Given the description of an element on the screen output the (x, y) to click on. 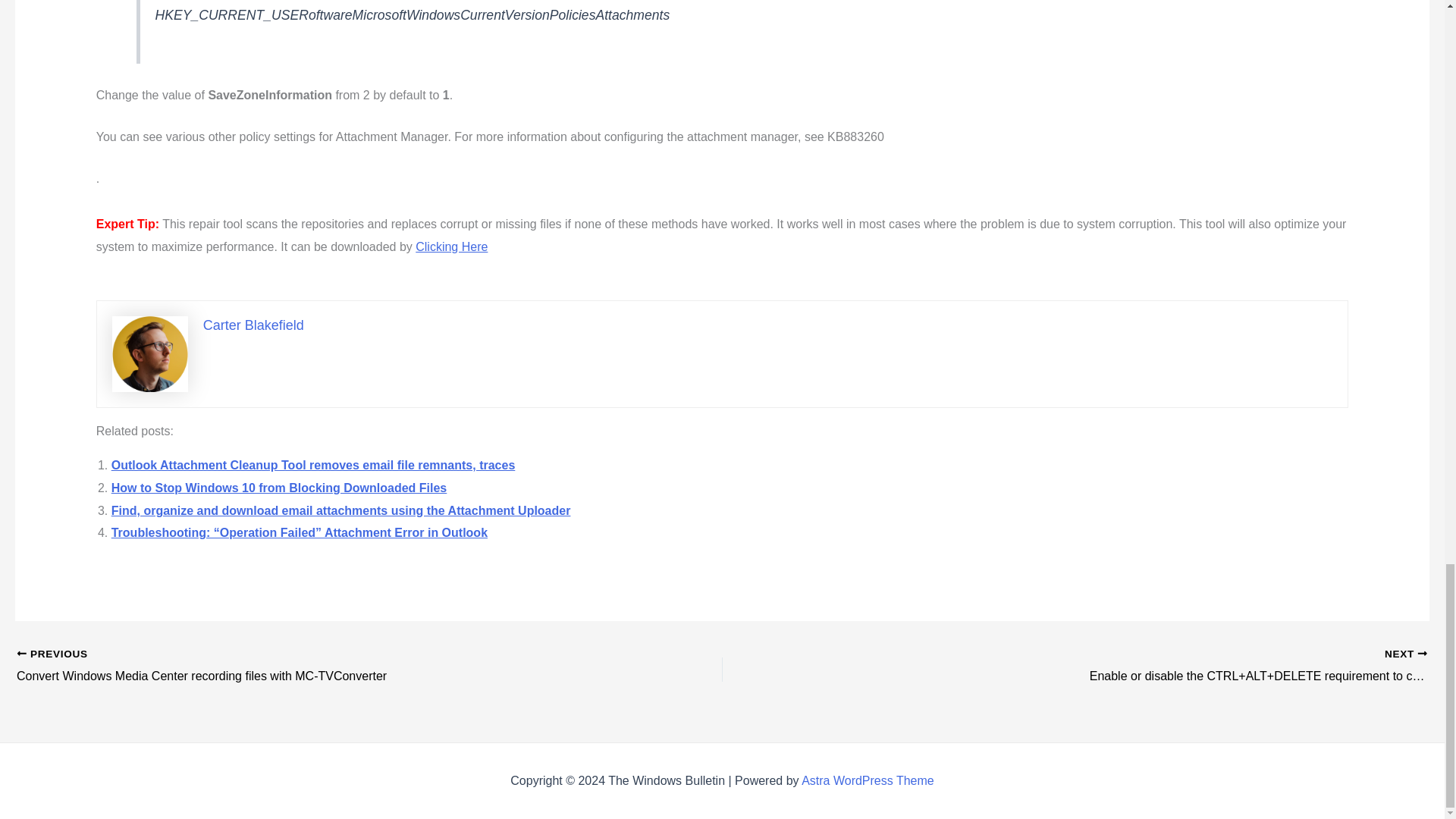
Carter Blakefield (253, 324)
How to Stop Windows 10 from Blocking Downloaded Files (279, 487)
Astra WordPress Theme (868, 780)
Clicking Here (450, 246)
How to Stop Windows 10 from Blocking Downloaded Files (279, 487)
